Given the description of an element on the screen output the (x, y) to click on. 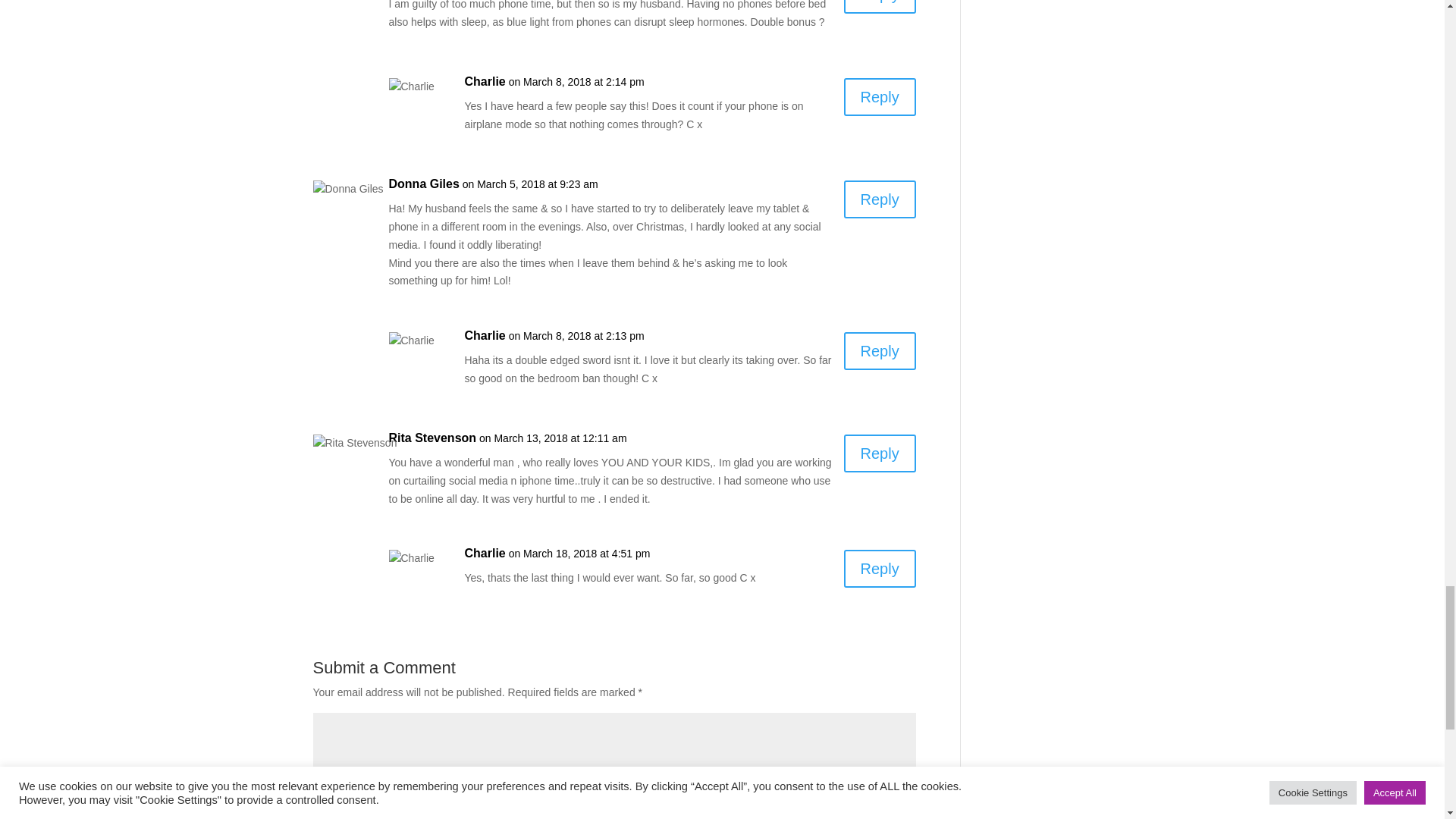
Reply (879, 453)
Donna Giles (423, 184)
Reply (879, 6)
Reply (879, 199)
Reply (879, 96)
Reply (879, 351)
